Given the description of an element on the screen output the (x, y) to click on. 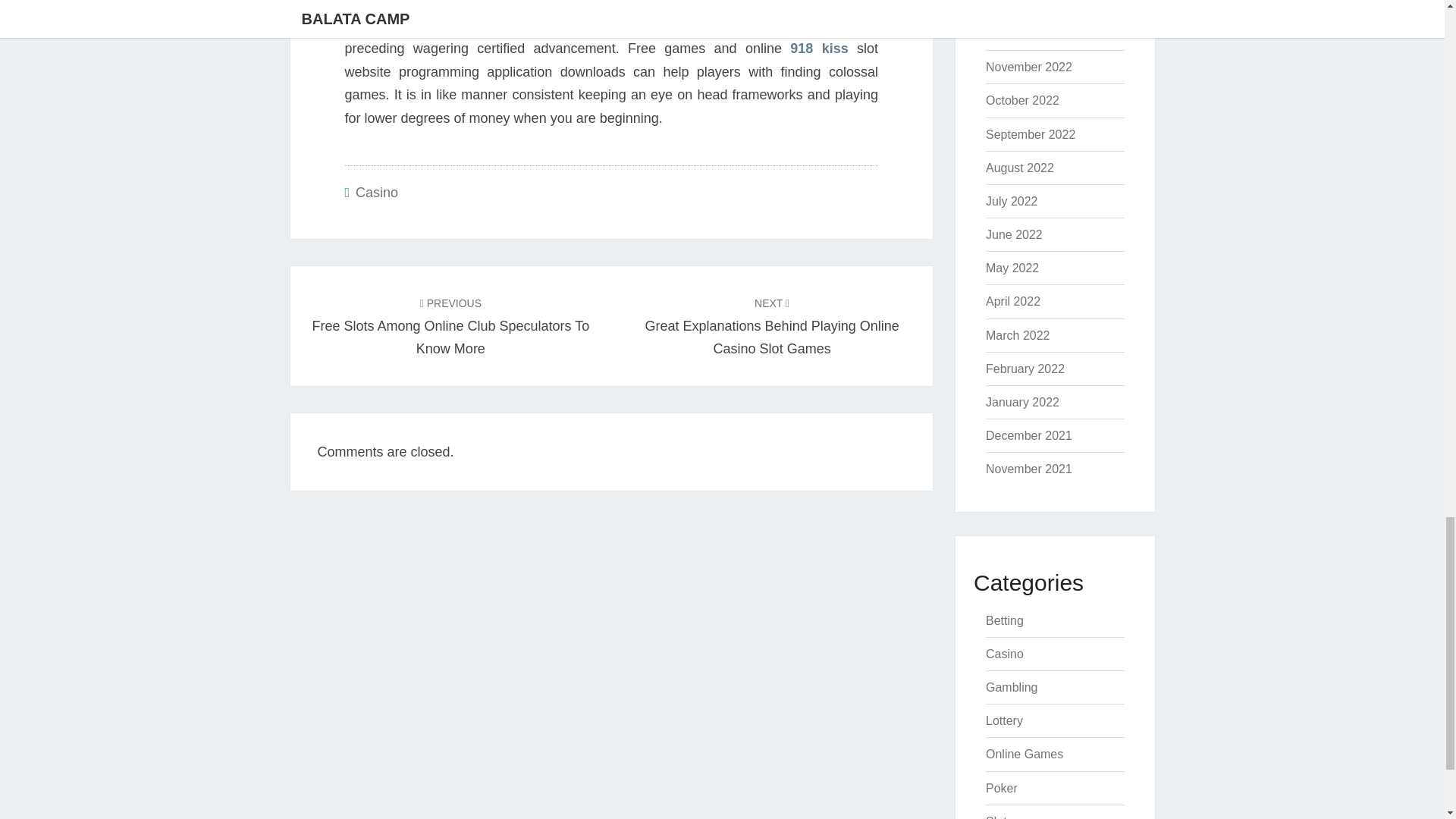
March 2022 (1017, 335)
September 2022 (1030, 133)
December 2022 (1028, 33)
February 2022 (1024, 368)
918 kiss (818, 48)
January 2023 (1022, 3)
Casino (376, 192)
January 2022 (1022, 401)
May 2022 (1012, 267)
June 2022 (1013, 234)
July 2022 (1011, 201)
April 2022 (1013, 300)
August 2022 (1019, 167)
October 2022 (1022, 100)
